Given the description of an element on the screen output the (x, y) to click on. 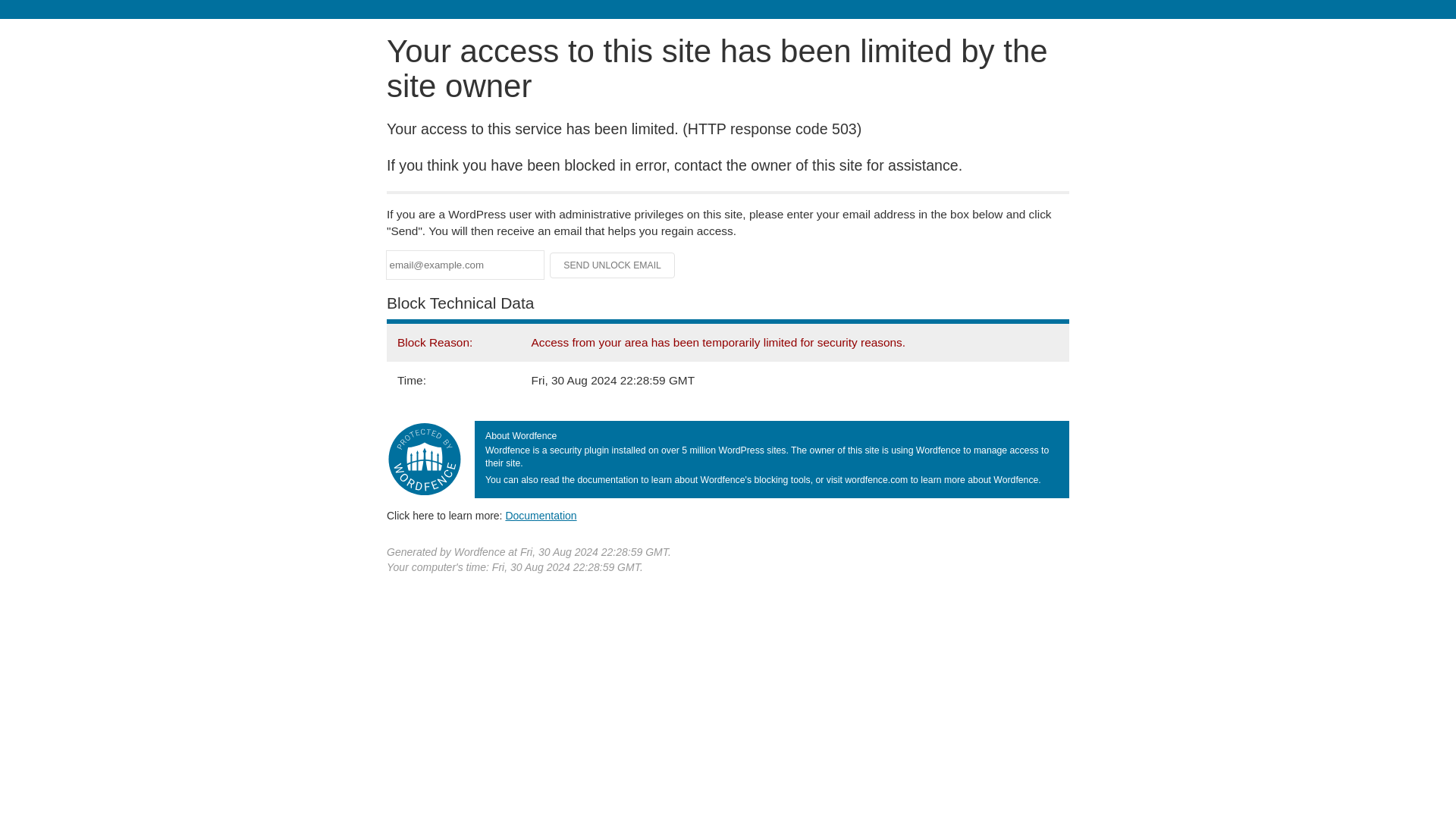
Send Unlock Email (612, 265)
Documentation (540, 515)
Send Unlock Email (612, 265)
